Given the description of an element on the screen output the (x, y) to click on. 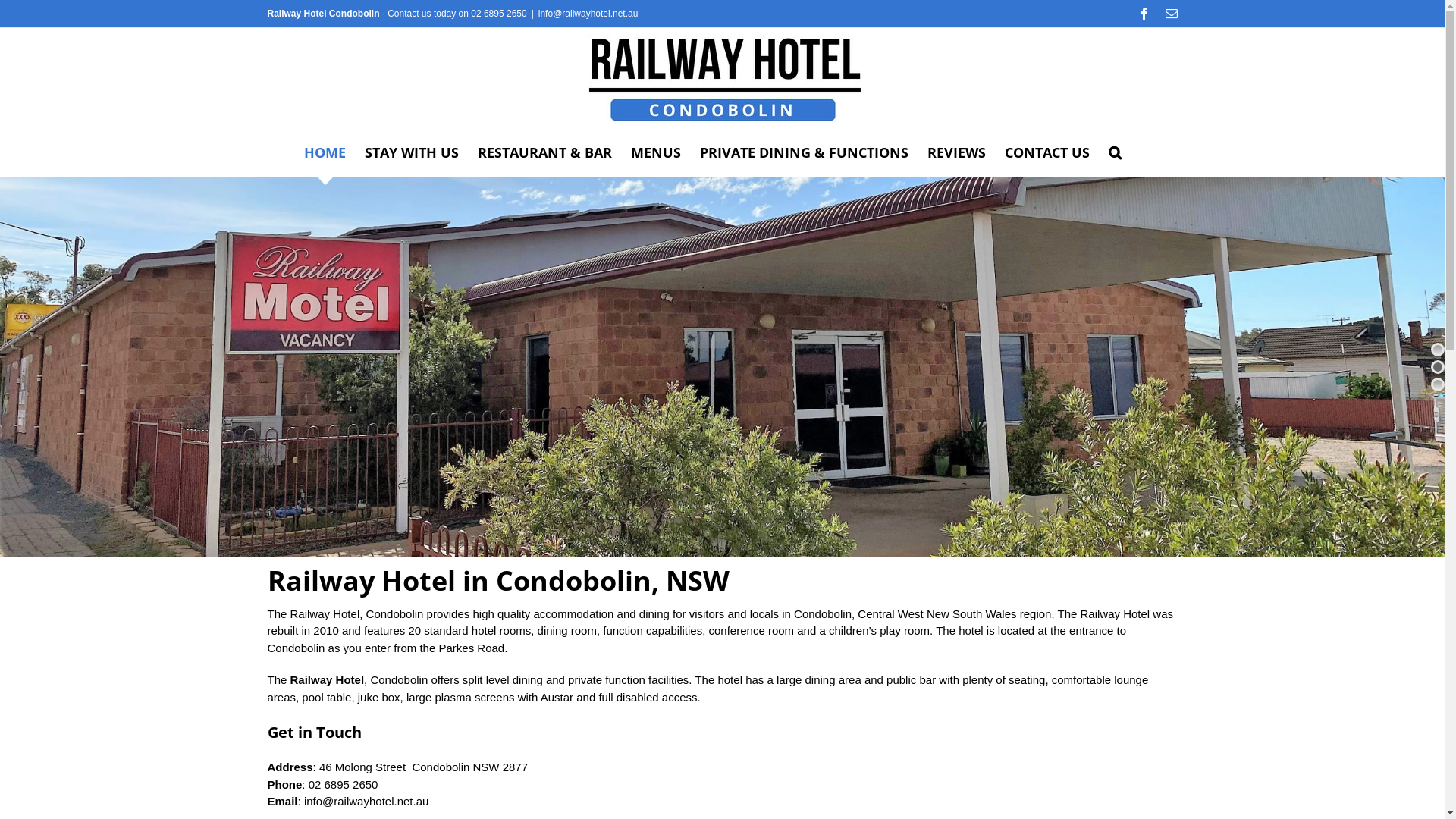
PRIVATE DINING & FUNCTIONS Element type: text (803, 151)
Facebook Element type: text (1143, 13)
dining Element type: text (654, 613)
46 Molong Street  Condobolin NSW 2877 Element type: text (423, 766)
info@railwayhotel.net.au Element type: text (366, 800)
STAY WITH US Element type: text (411, 151)
Search Element type: hover (1114, 151)
Email Element type: text (1170, 13)
RESTAURANT & BAR Element type: text (544, 151)
info@railwayhotel.net.au Element type: text (588, 13)
HOME Element type: text (324, 151)
REVIEWS Element type: text (956, 151)
MENUS Element type: text (655, 151)
CONTACT US Element type: text (1046, 151)
accommodation Element type: text (573, 613)
